Given the description of an element on the screen output the (x, y) to click on. 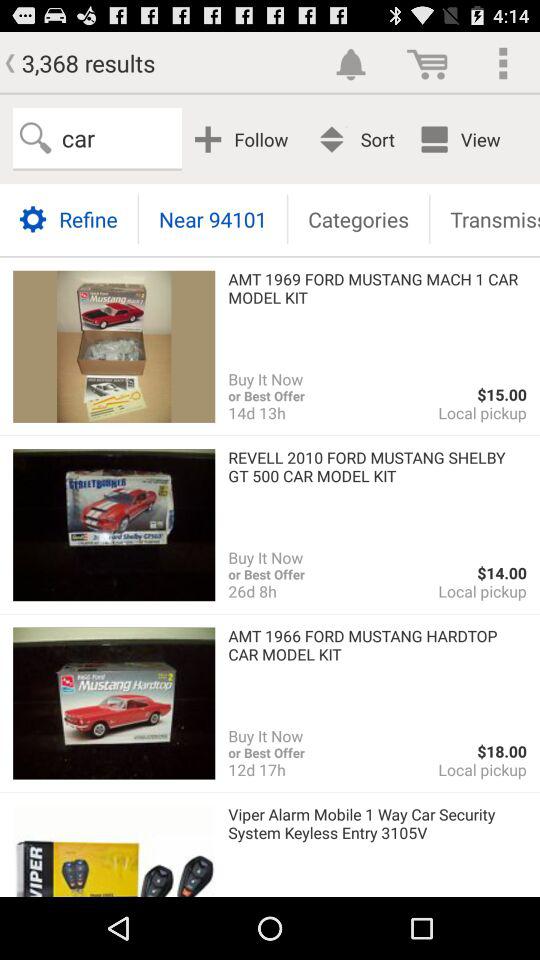
jump until near 94101 (212, 218)
